Given the description of an element on the screen output the (x, y) to click on. 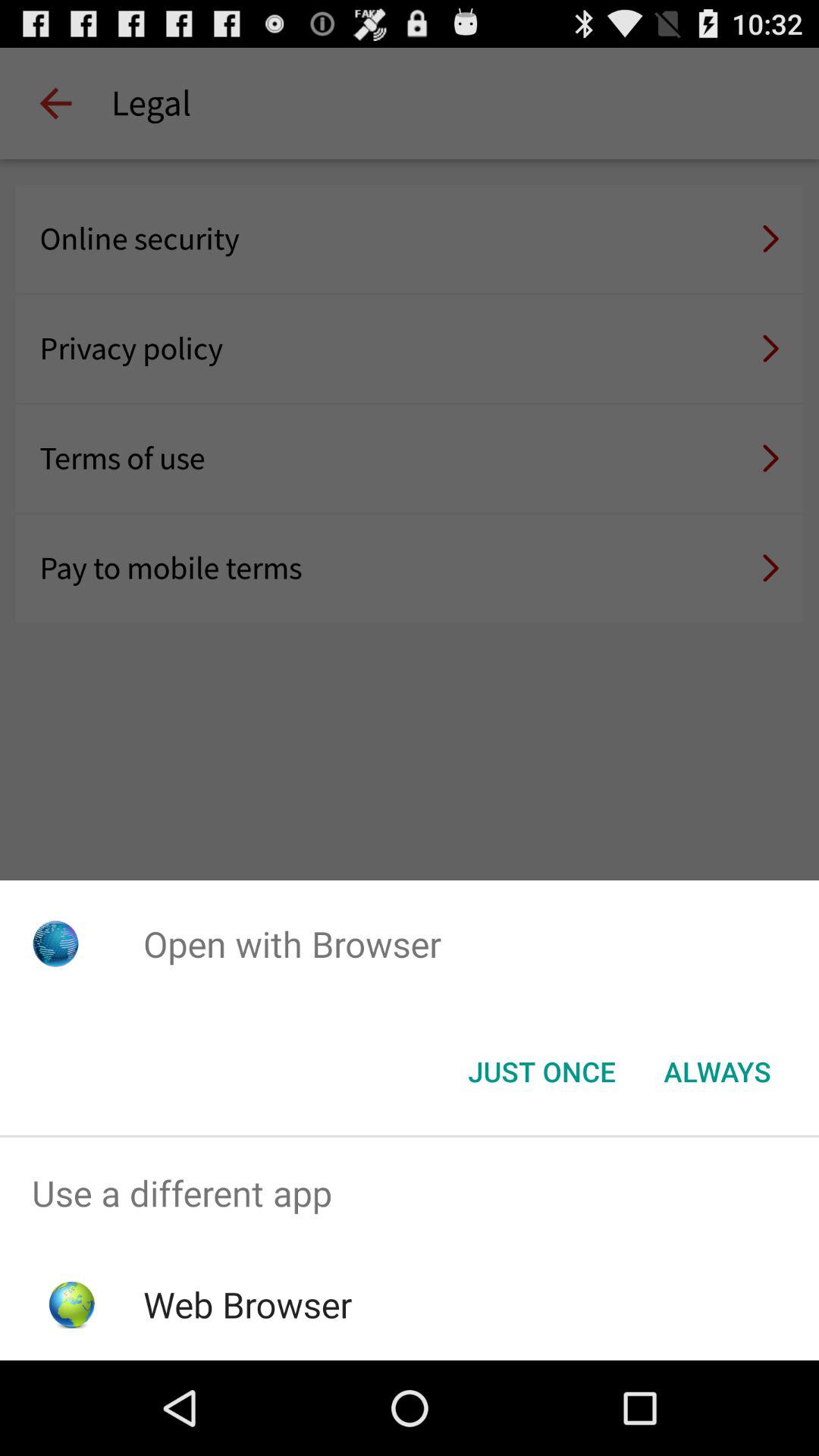
jump until web browser (247, 1304)
